Given the description of an element on the screen output the (x, y) to click on. 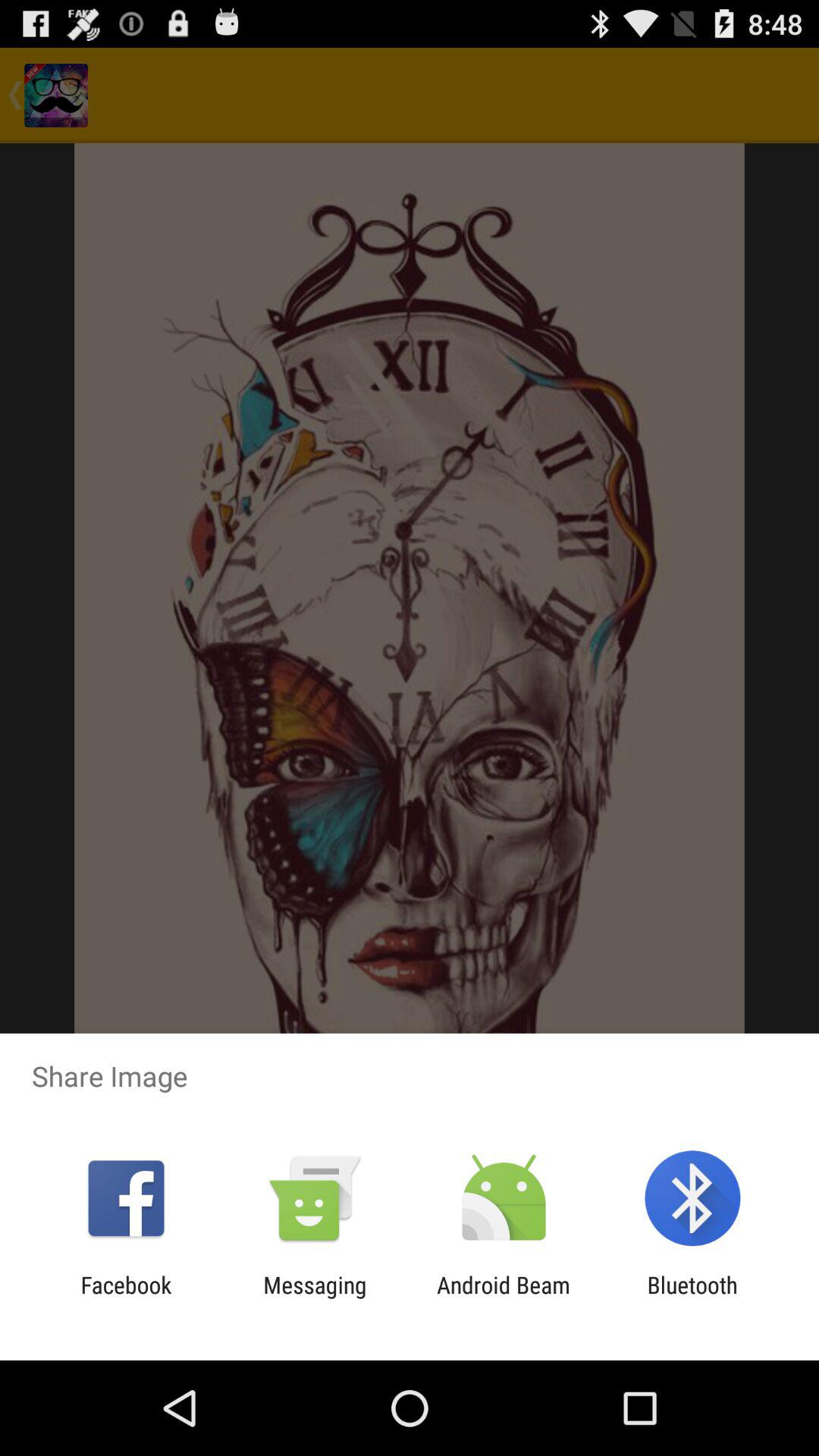
press app to the right of messaging item (503, 1298)
